Given the description of an element on the screen output the (x, y) to click on. 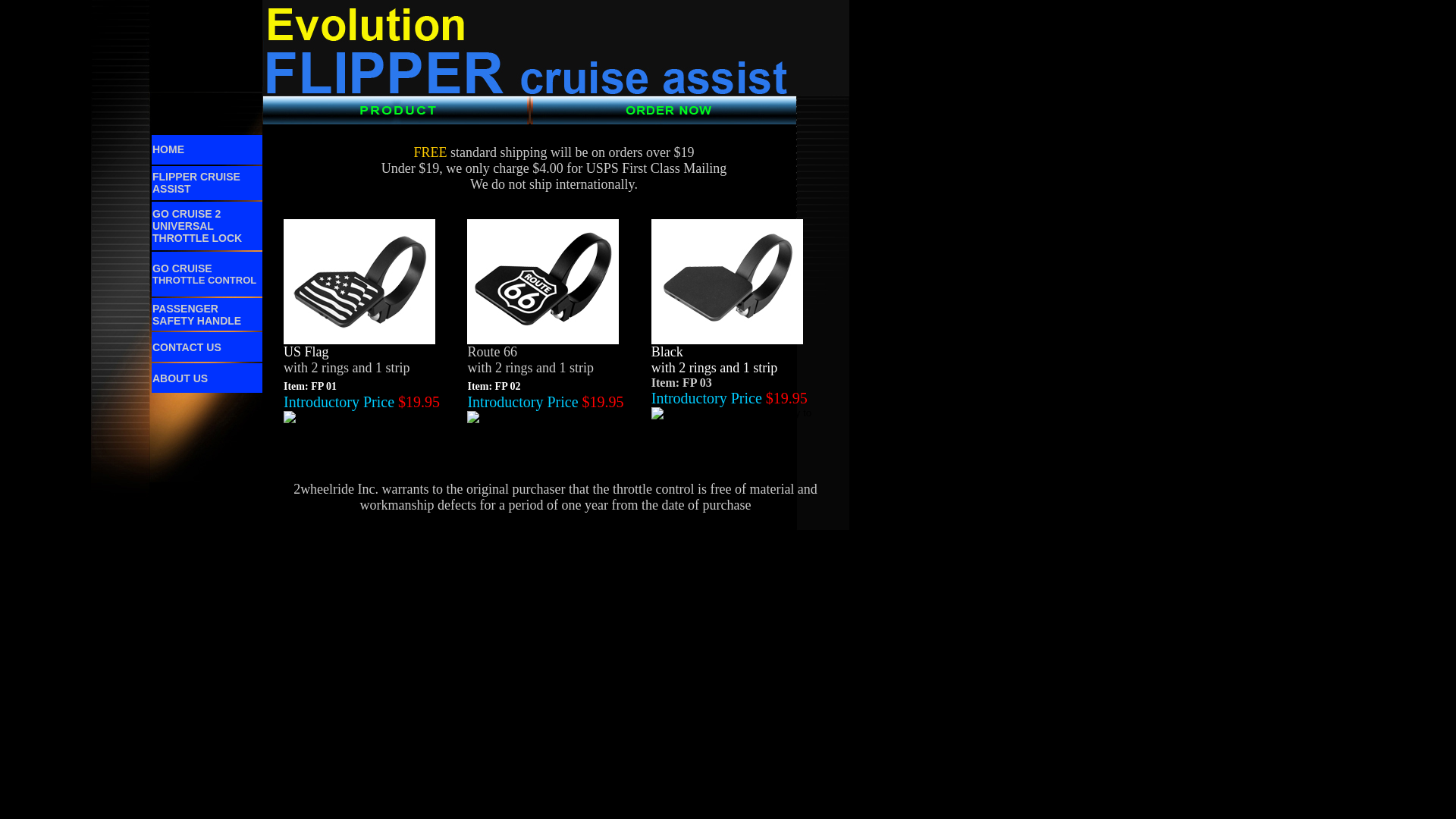
GO CRUISE 2 UNIVERSAL THROTTLE LOCK Element type: text (196, 225)
GO CRUISE THROTTLE CONTROL Element type: text (204, 273)
HOME Element type: text (168, 149)
FLIPPER CRUISE ASSIST Element type: text (196, 182)
ABOUT US Element type: text (179, 378)
CONTACT US Element type: text (186, 347)
PASSENGER SAFETY HANDLE Element type: text (196, 314)
